Given the description of an element on the screen output the (x, y) to click on. 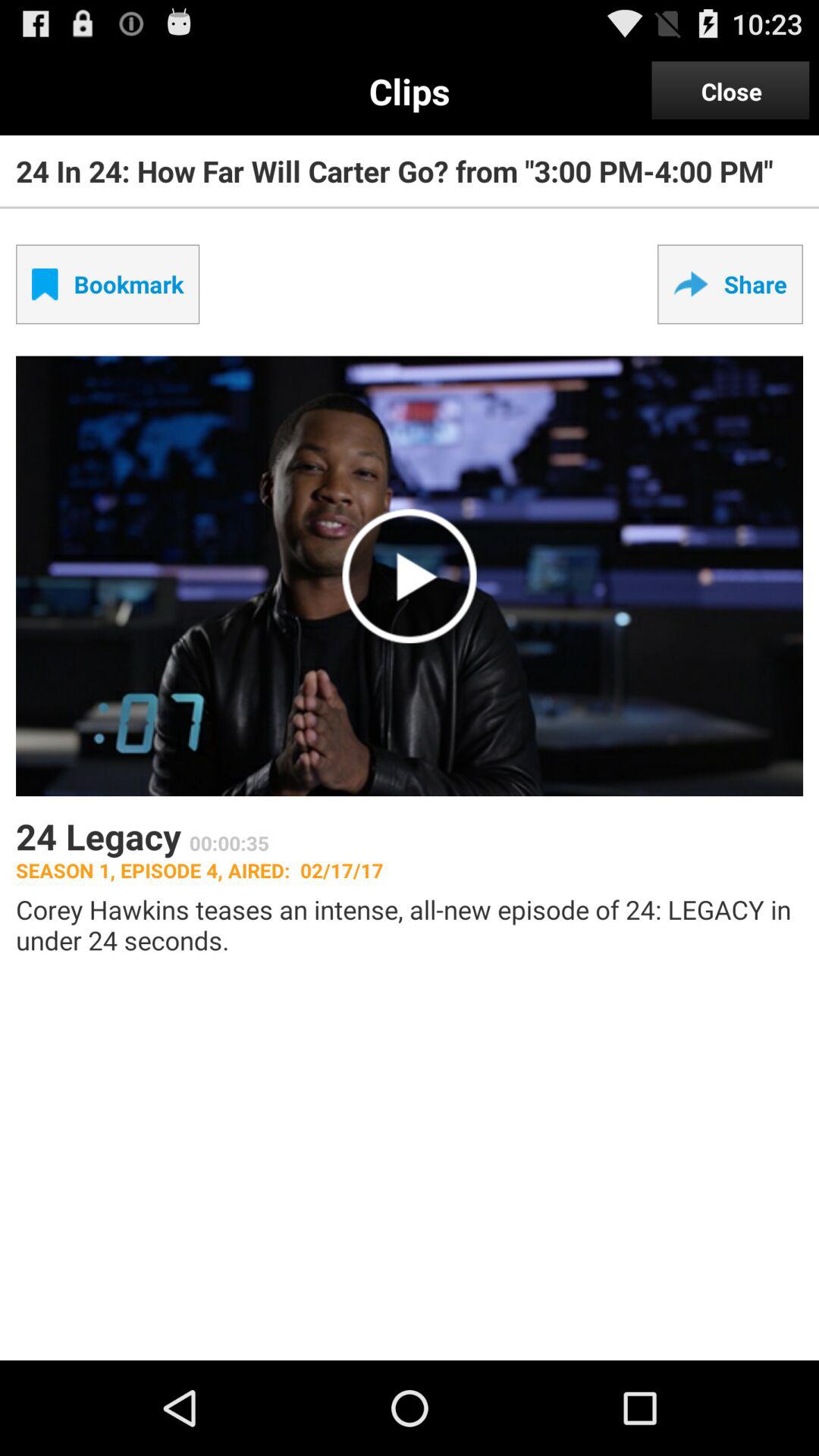
select the close button (731, 91)
